Given the description of an element on the screen output the (x, y) to click on. 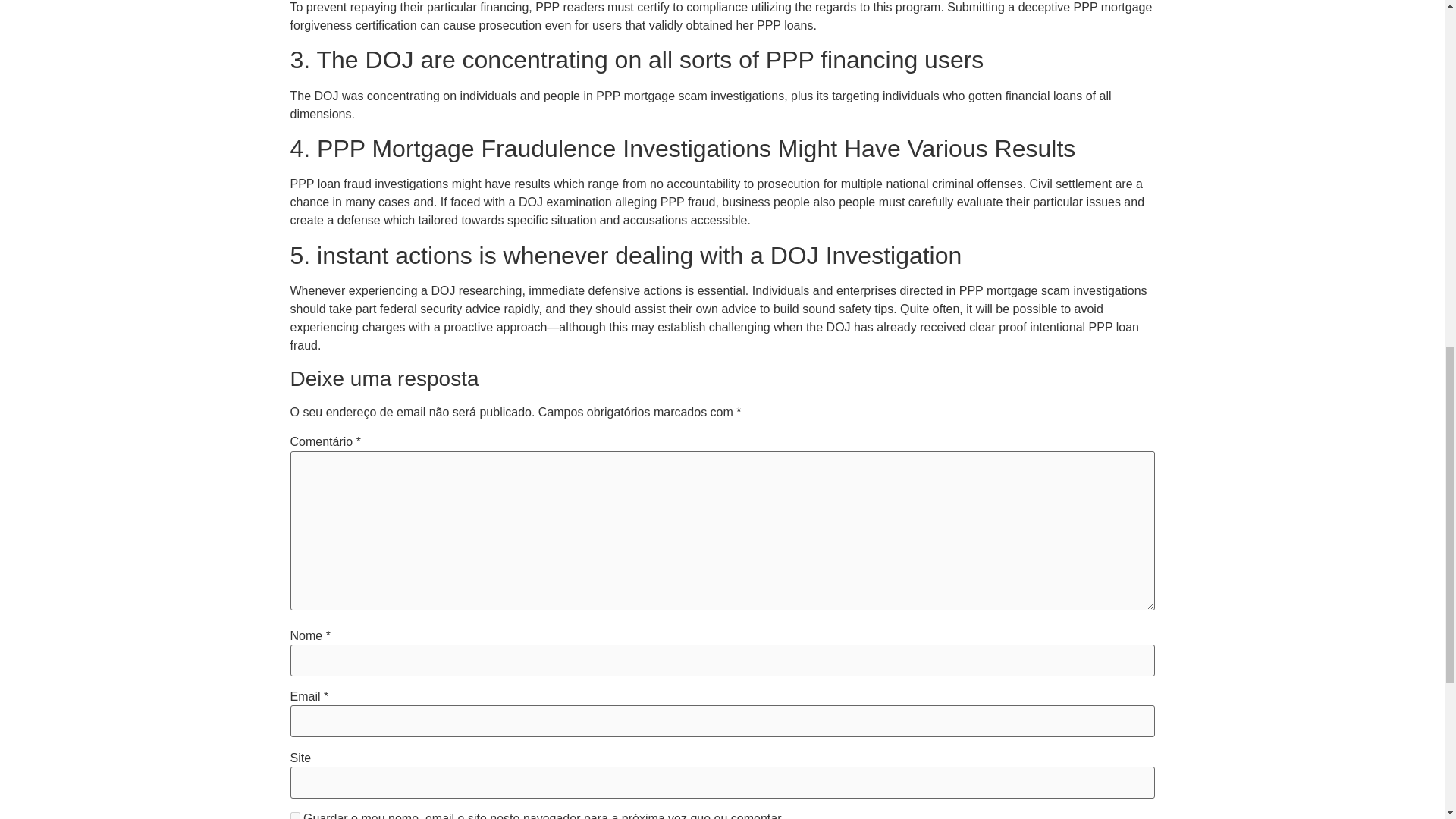
yes (294, 815)
